Given the description of an element on the screen output the (x, y) to click on. 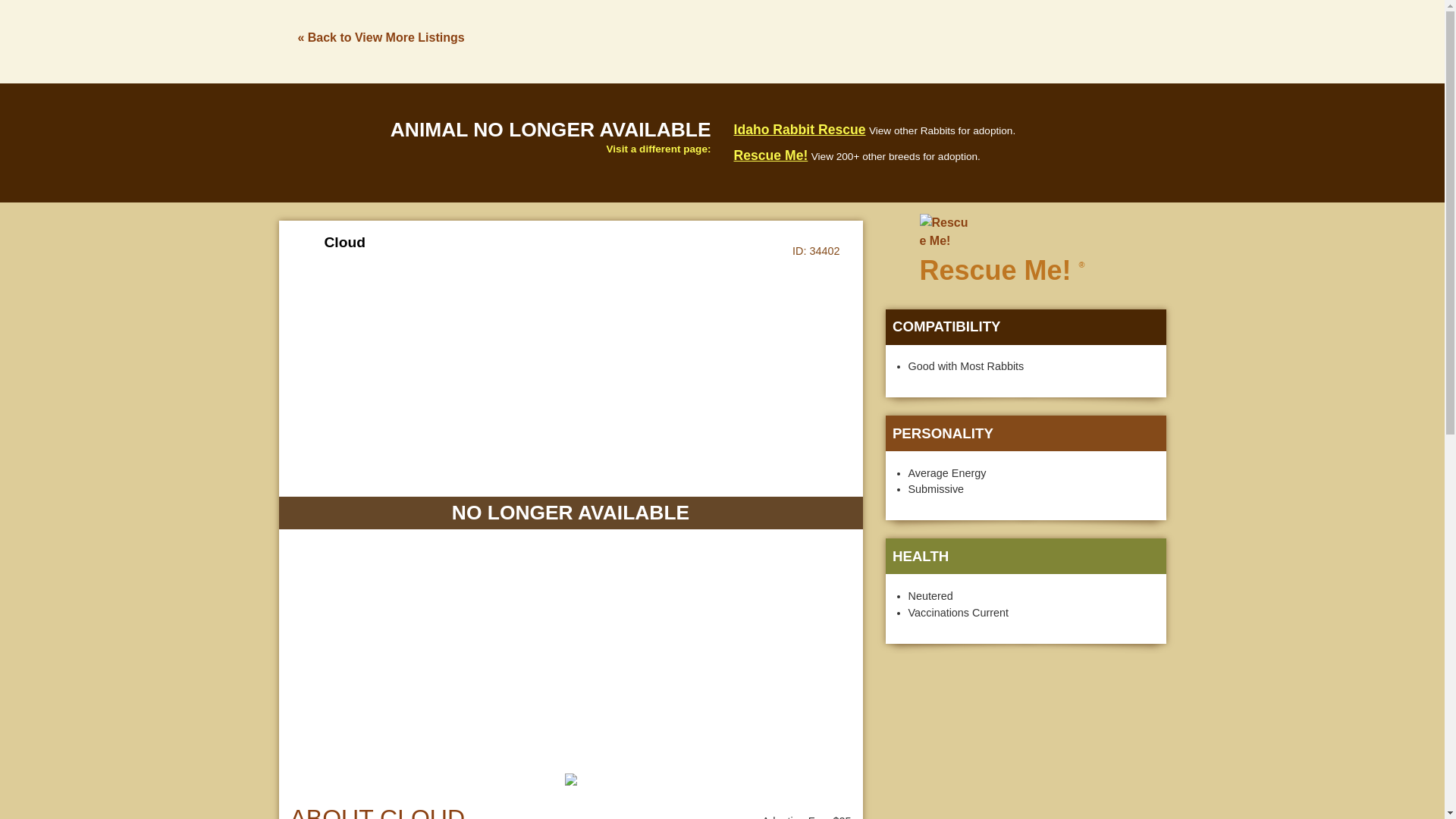
Idaho Rabbit Rescue (799, 129)
Rescue Me! (770, 155)
